Given the description of an element on the screen output the (x, y) to click on. 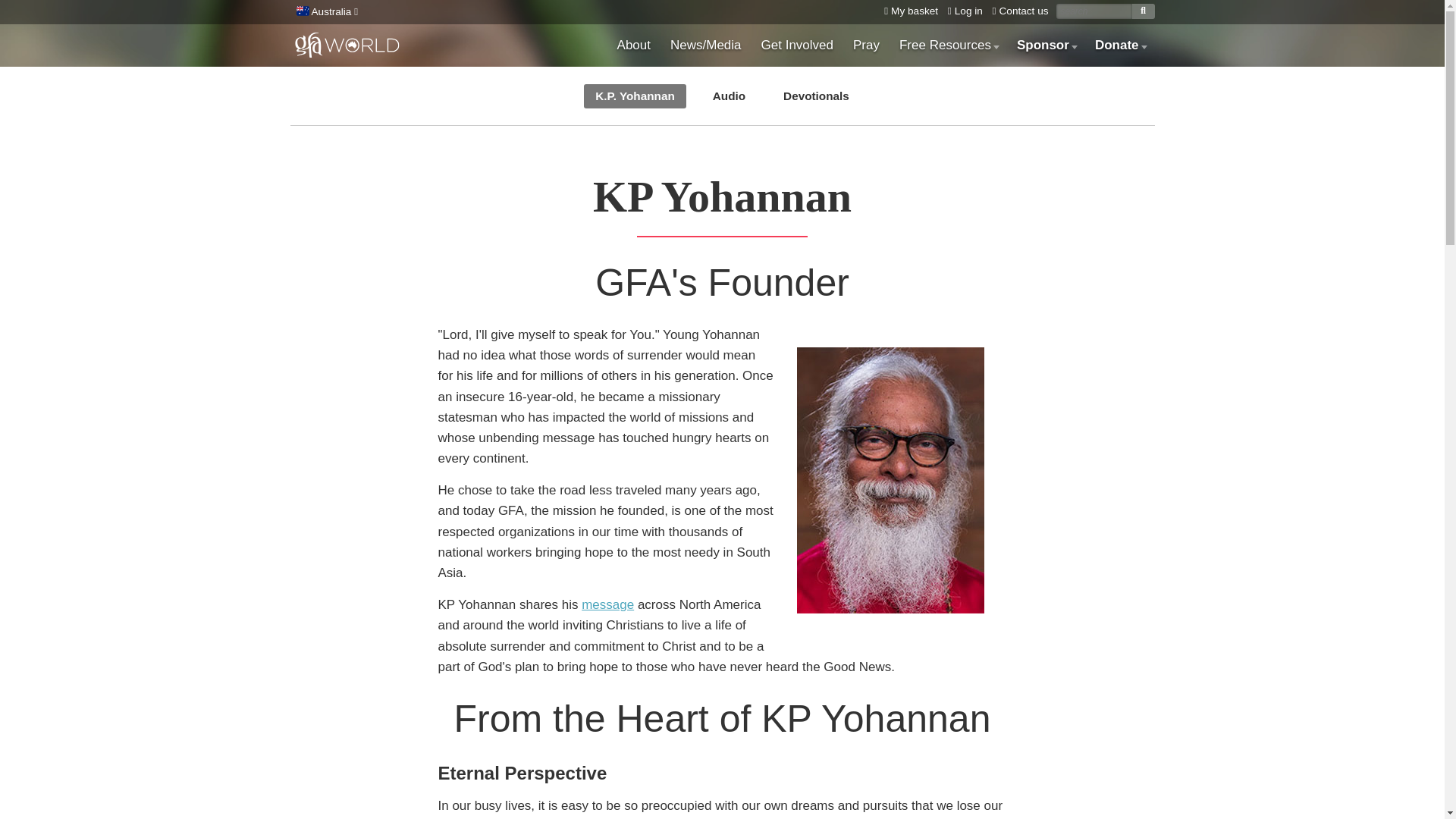
Free Resources (948, 45)
Log in (962, 10)
About (634, 45)
Pray (866, 45)
Get Involved (797, 45)
Sponsor (1045, 45)
My basket (907, 10)
Contact us (1017, 10)
Australia (325, 12)
Donate (1119, 45)
